Given the description of an element on the screen output the (x, y) to click on. 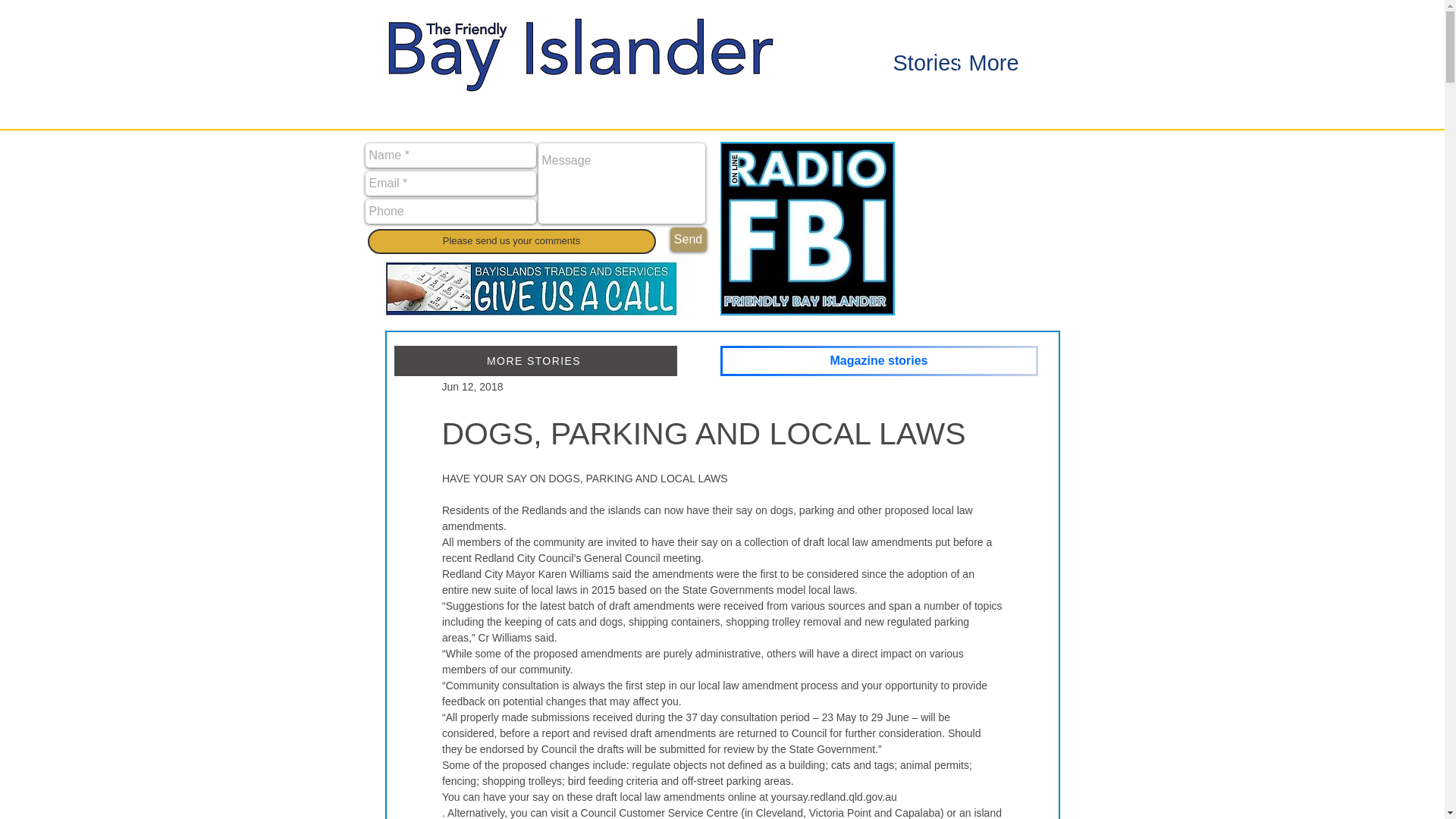
Magazine stories (879, 360)
Send (687, 239)
MORE STORIES (535, 360)
Jun 12, 2018 (471, 386)
logo.PNG (577, 51)
